Given the description of an element on the screen output the (x, y) to click on. 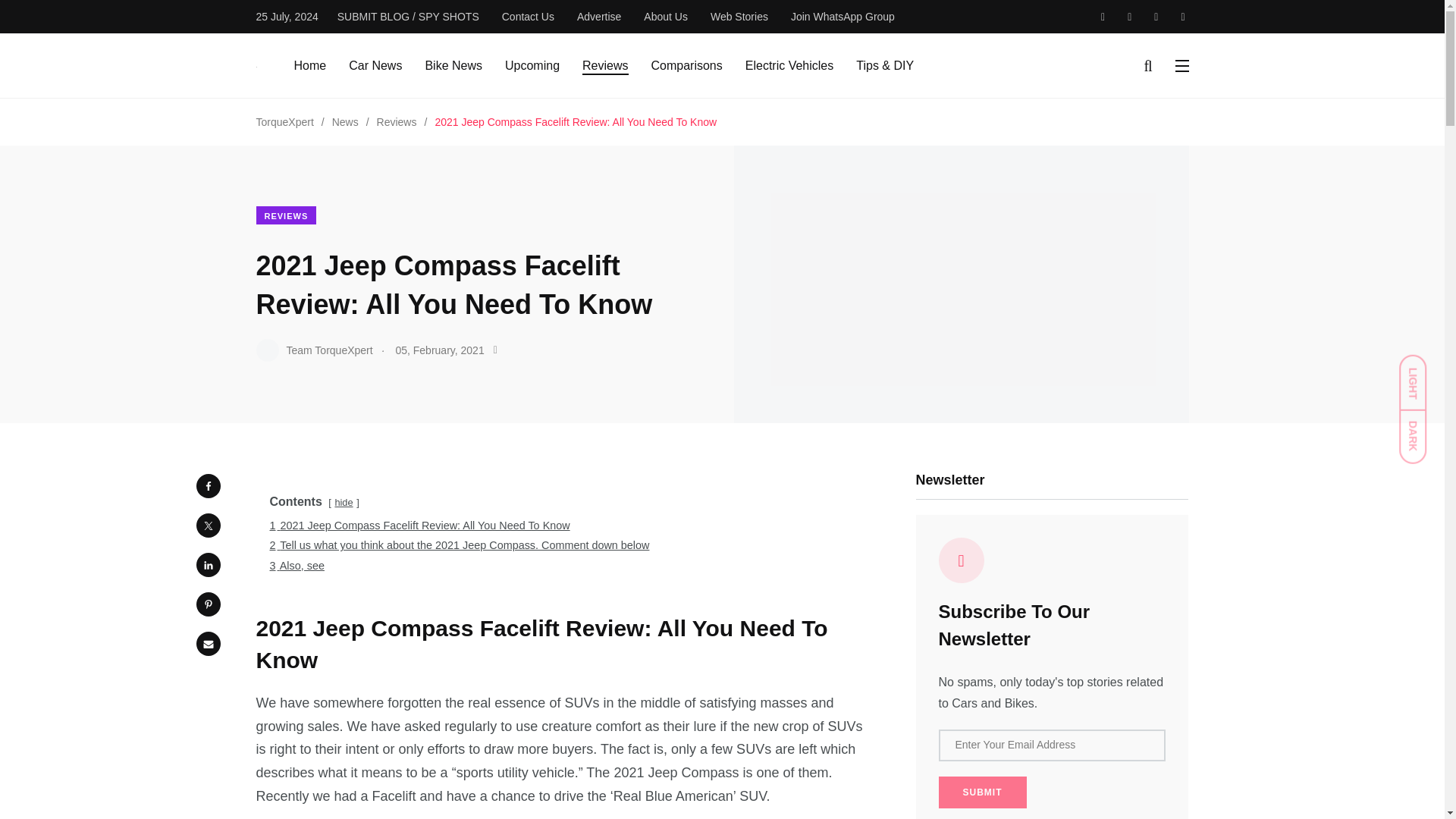
Share on Pinterest (207, 603)
Share via Email (207, 642)
Go to News. (344, 121)
Advertise (598, 16)
Reviews (604, 65)
Share on Twitter (207, 524)
Dark Mode (1419, 428)
Go to the Reviews category archives. (396, 121)
Share on Facebook (207, 485)
Upcoming (532, 65)
Join WhatsApp Group (842, 16)
Home (310, 65)
Light Mode (1420, 375)
Comparisons (686, 65)
Bike News (453, 65)
